Given the description of an element on the screen output the (x, y) to click on. 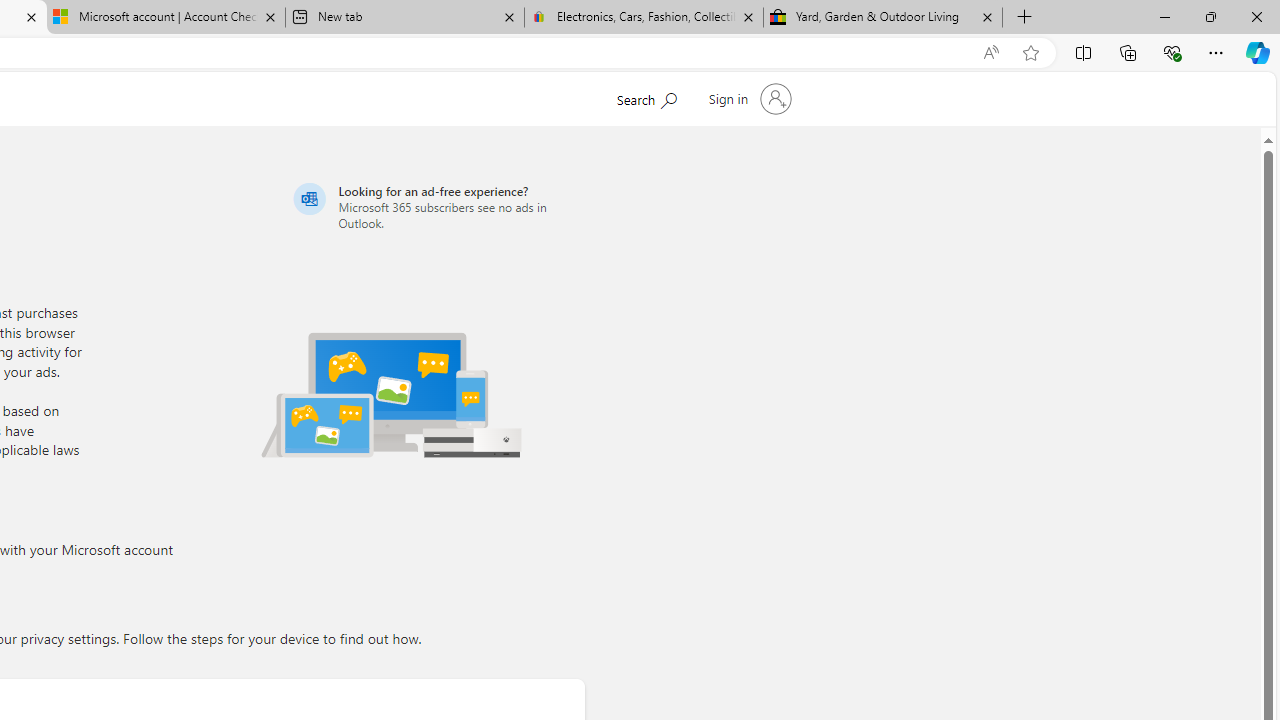
Illustration of multiple devices (391, 394)
Looking for an ad-free experience? (436, 206)
Search Microsoft.com (646, 97)
